Given the description of an element on the screen output the (x, y) to click on. 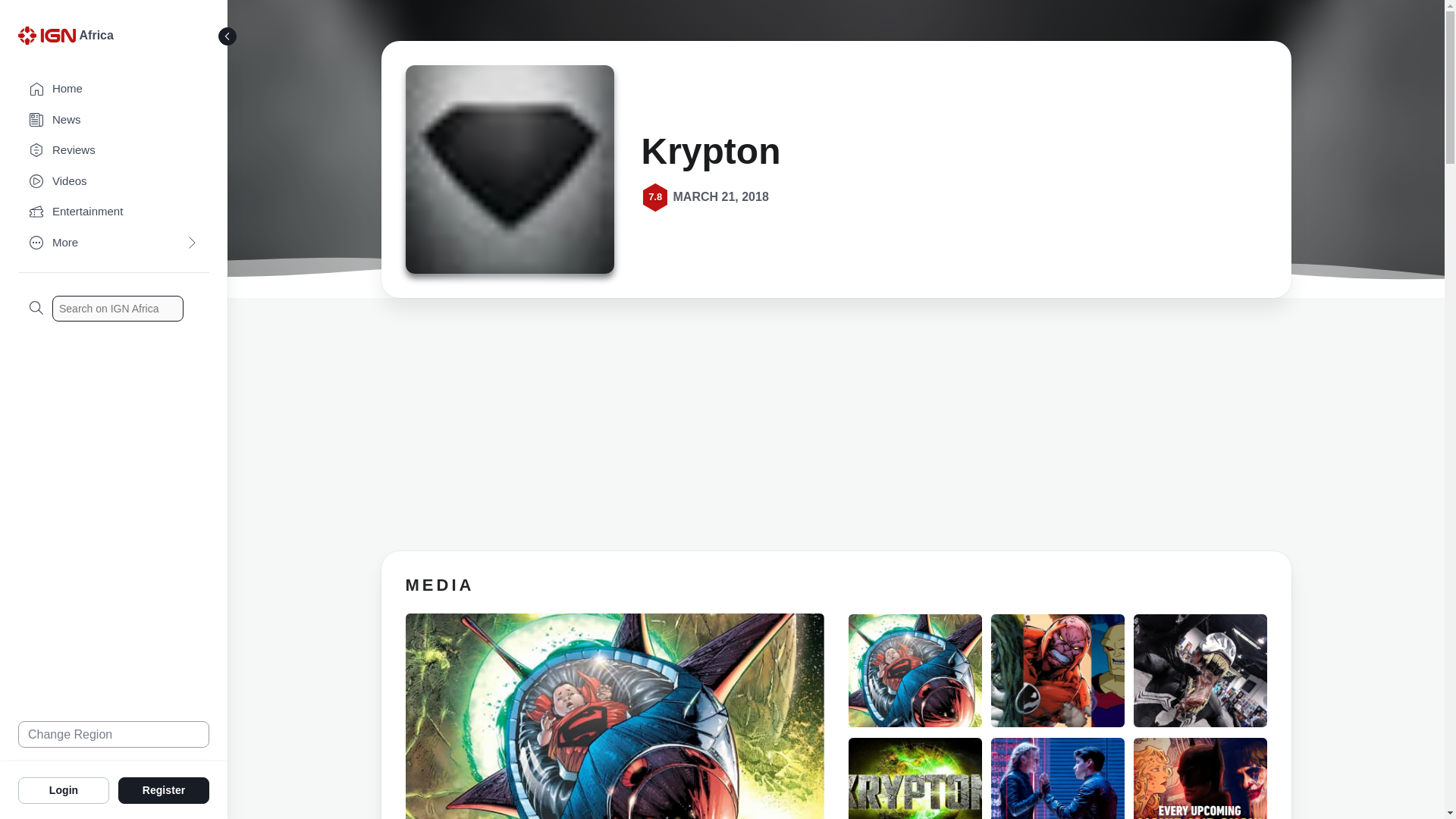
Videos (113, 181)
News (113, 119)
IGN Logo (46, 34)
Toggle Sidebar (226, 36)
Home (113, 89)
Krypton (508, 169)
Reviews (113, 150)
Krypton (508, 173)
Register (163, 789)
IGN Logo (48, 39)
